Given the description of an element on the screen output the (x, y) to click on. 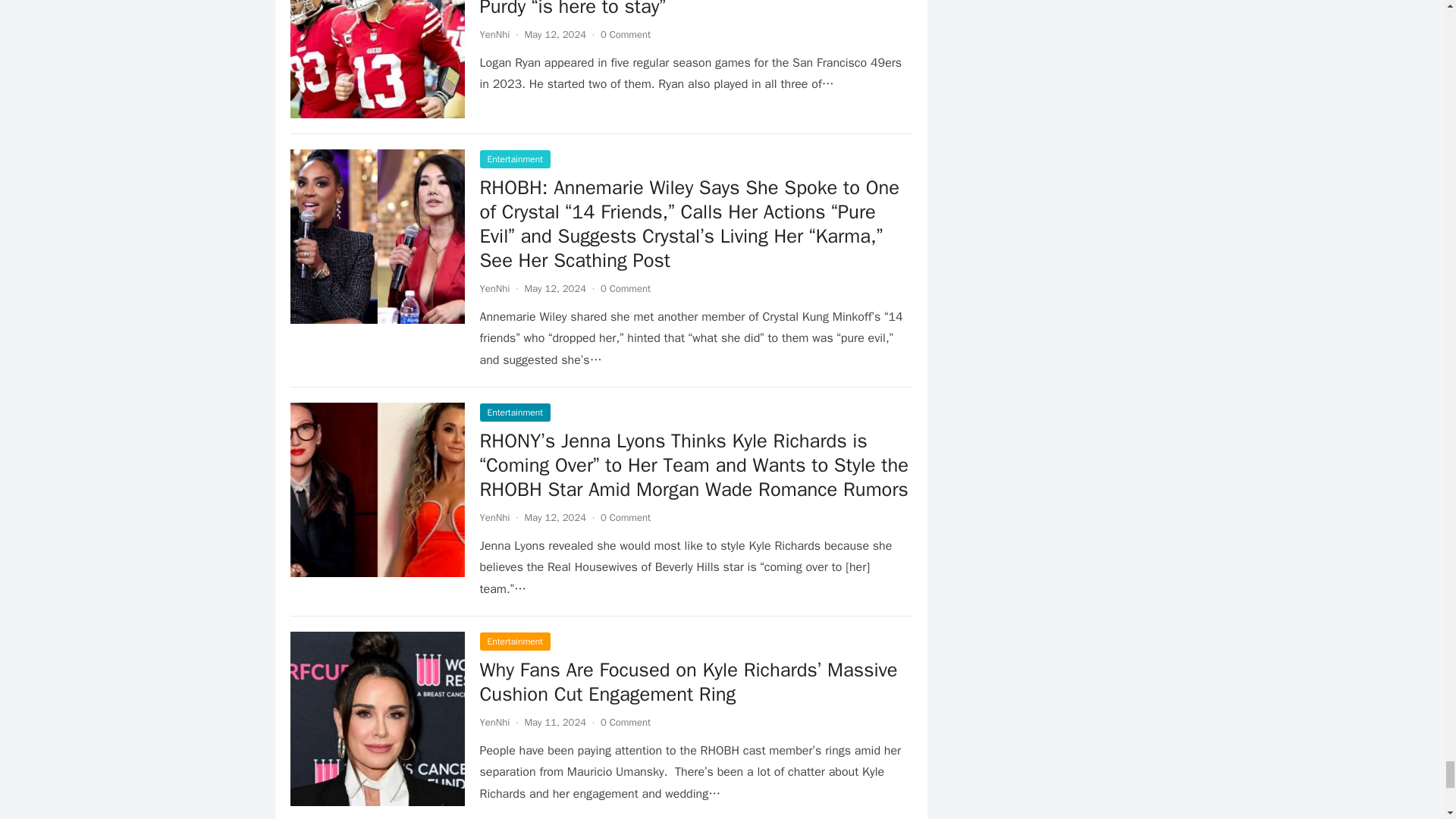
Posts by YenNhi (494, 517)
0 Comment (624, 517)
0 Comment (624, 33)
Posts by YenNhi (494, 721)
Posts by YenNhi (494, 33)
Entertainment (514, 641)
Entertainment (514, 412)
YenNhi (494, 287)
0 Comment (624, 721)
0 Comment (624, 287)
YenNhi (494, 33)
YenNhi (494, 721)
Posts by YenNhi (494, 287)
YenNhi (494, 517)
Entertainment (514, 158)
